Given the description of an element on the screen output the (x, y) to click on. 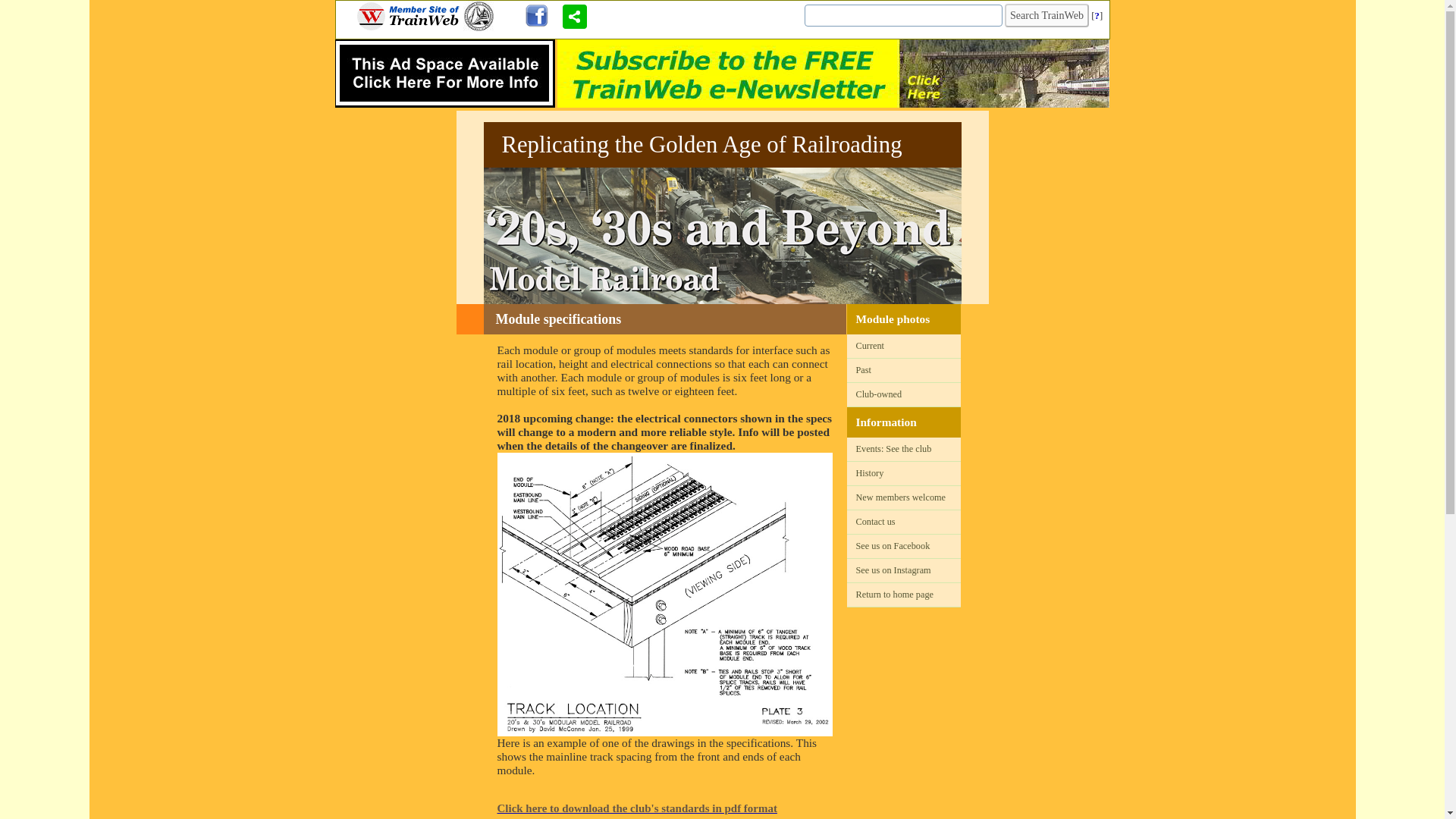
See us on Facebook (902, 545)
Club-owned (902, 394)
Replicating the Golden Age of Railroading (721, 144)
Search TrainWeb (1046, 15)
Search TrainWeb (1046, 15)
Click here to download the club's standards in pdf format (664, 810)
Contact us (902, 521)
History (902, 473)
See us on Instagram (902, 570)
Past (902, 370)
New members welcome (902, 497)
Events: See the club (902, 449)
Return to home page (902, 594)
Current (902, 345)
